Given the description of an element on the screen output the (x, y) to click on. 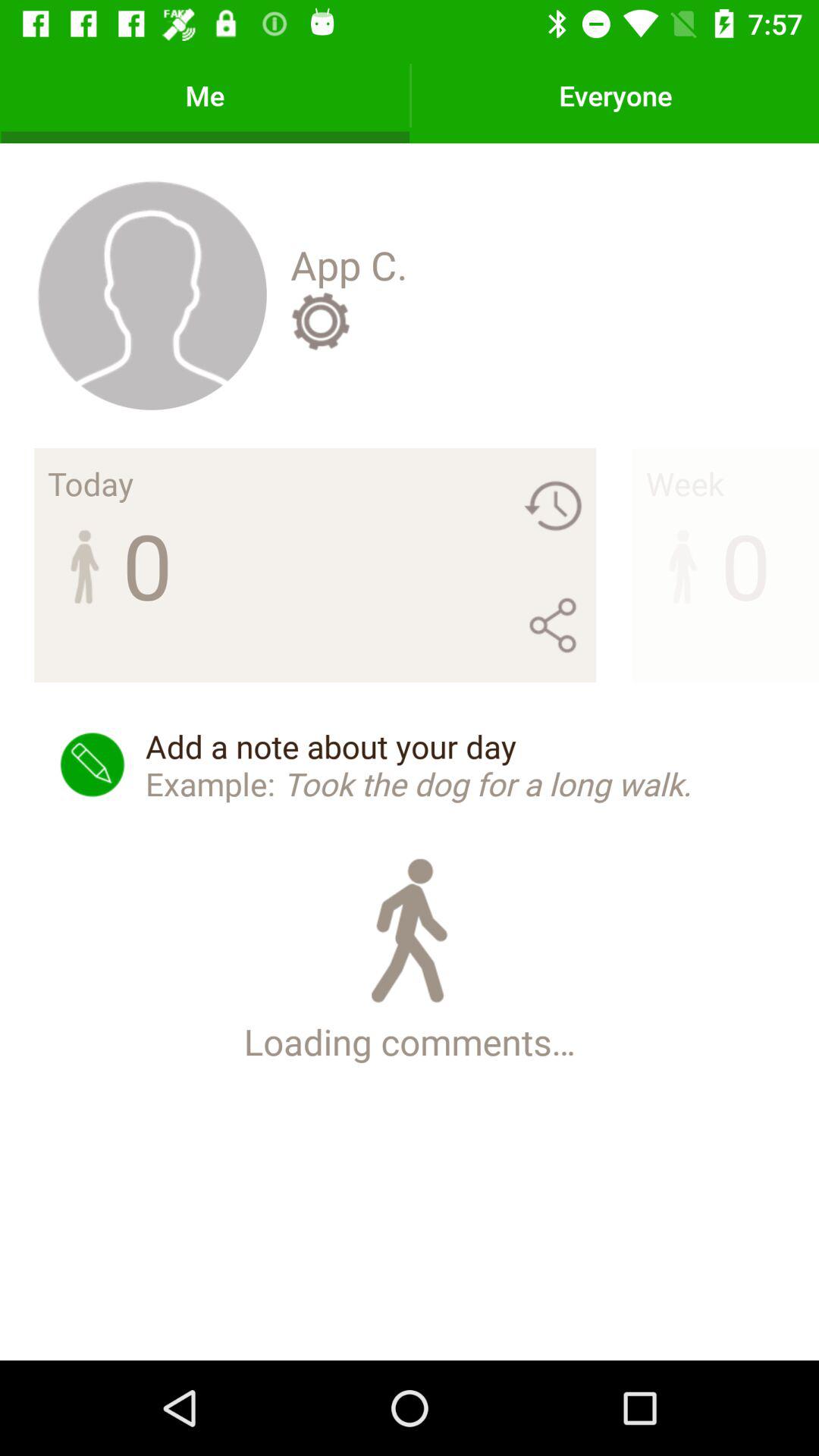
click on the me button at the top left  corner of the page (205, 95)
click on the button right to me (615, 95)
click on the image under today (84, 564)
click on settings icon below app c (320, 320)
select the profile icon at top of the page (151, 293)
